Given the description of an element on the screen output the (x, y) to click on. 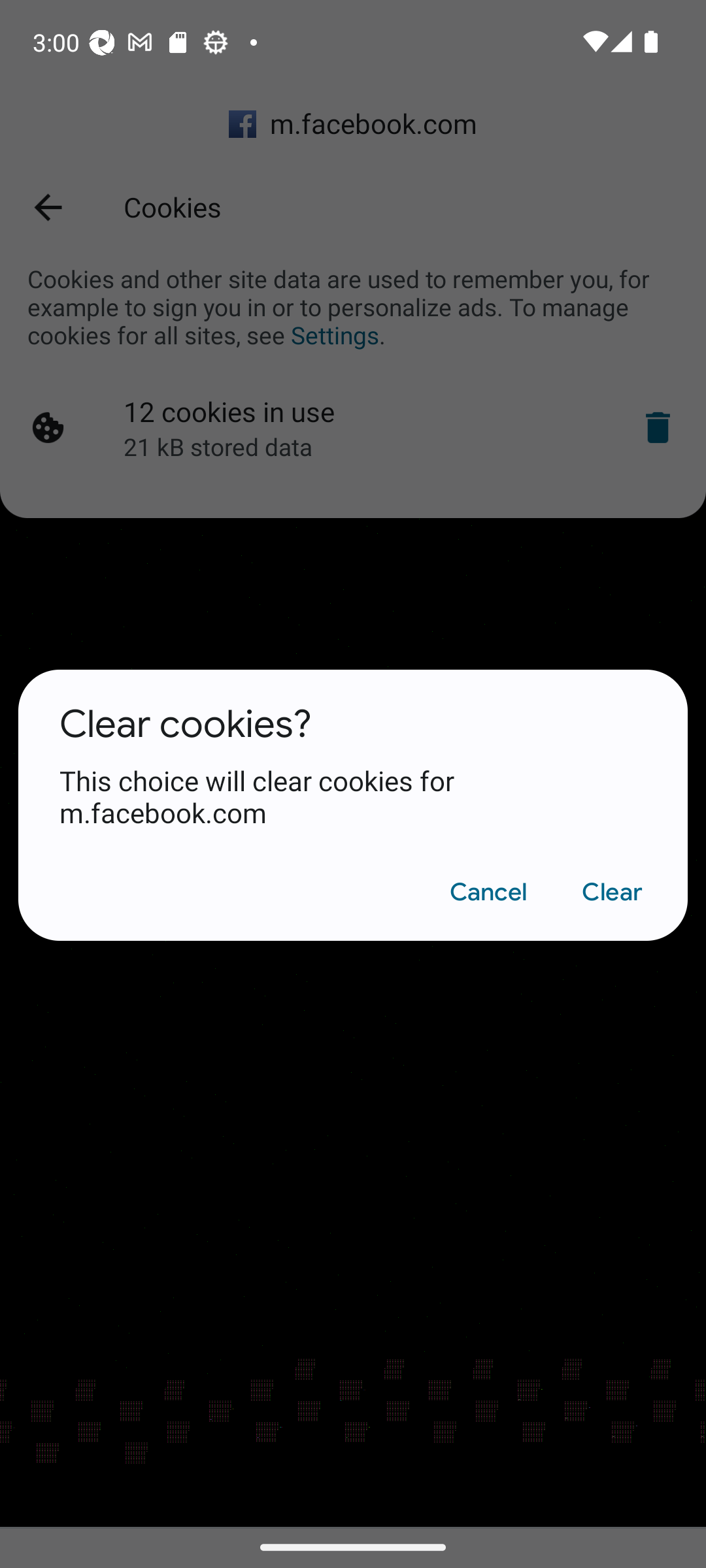
Cancel (487, 891)
Clear (611, 891)
